Given the description of an element on the screen output the (x, y) to click on. 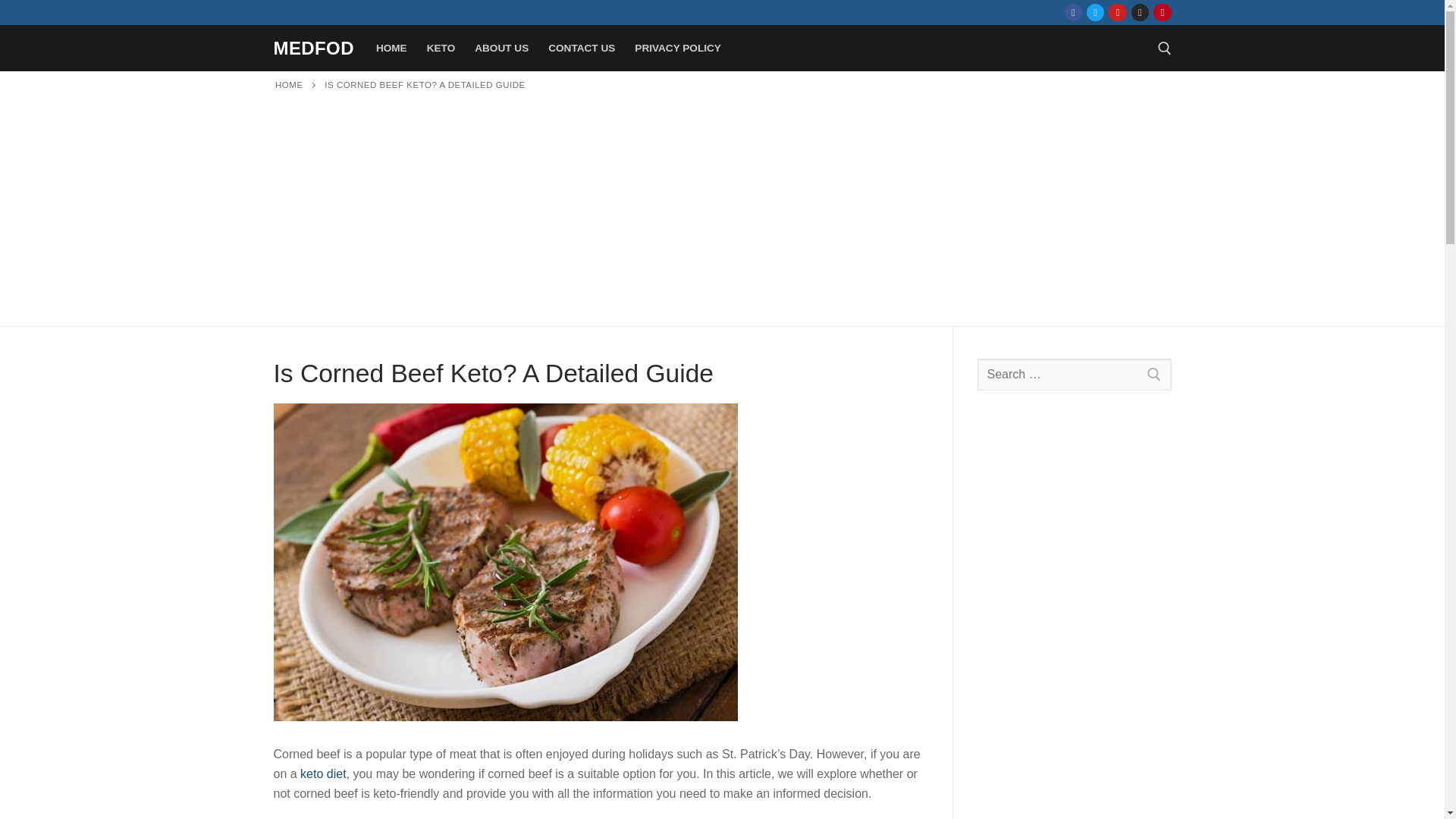
Twitter (1095, 12)
CONTACT US (581, 48)
Youtube (1117, 12)
HOME (288, 84)
Facebook (1073, 12)
ABOUT US (501, 48)
KETO (440, 48)
MEDFOD (313, 47)
PRIVACY POLICY (677, 48)
